Given the description of an element on the screen output the (x, y) to click on. 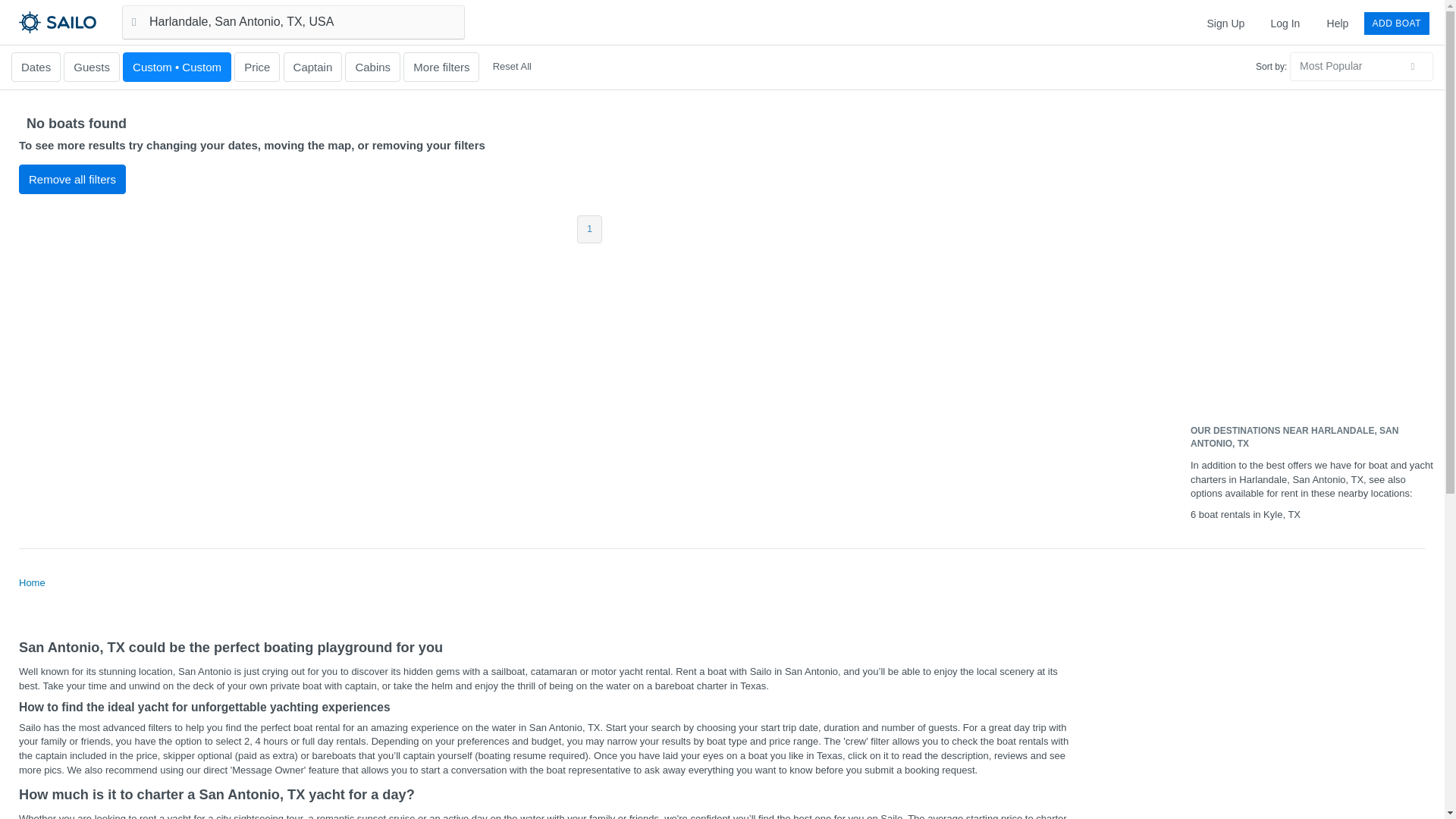
Log In (1285, 23)
Harlandale, San Antonio, TX, USA (293, 21)
ADD BOAT (1396, 23)
Help (1337, 23)
Sign Up (1225, 23)
Harlandale, San Antonio, TX, USA (293, 21)
Sailo logo text (84, 21)
